Given the description of an element on the screen output the (x, y) to click on. 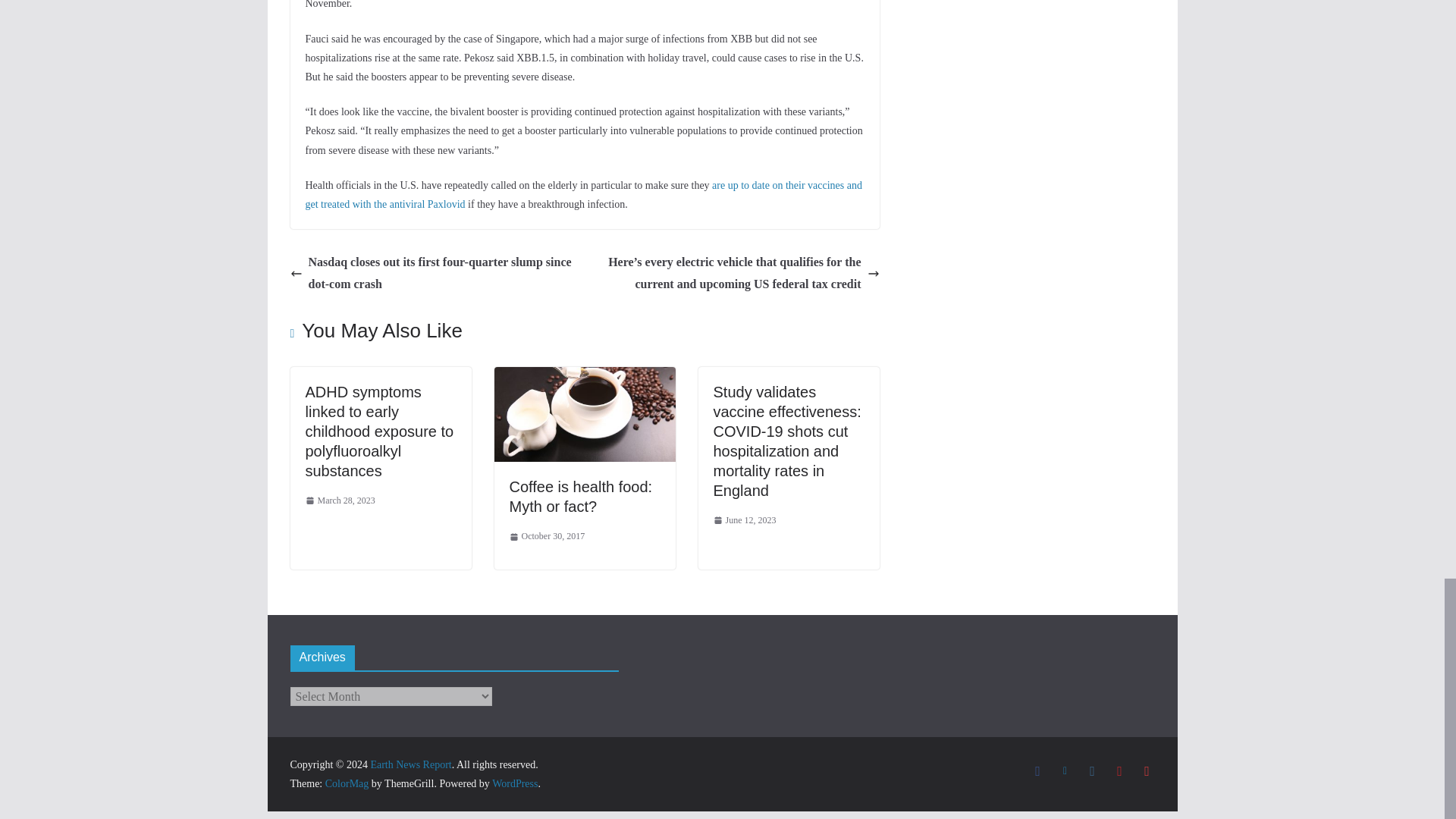
11:37 am (547, 536)
Coffee is health food: Myth or fact? (580, 496)
Coffee is health food: Myth or fact? (585, 377)
3:42 pm (339, 501)
